Given the description of an element on the screen output the (x, y) to click on. 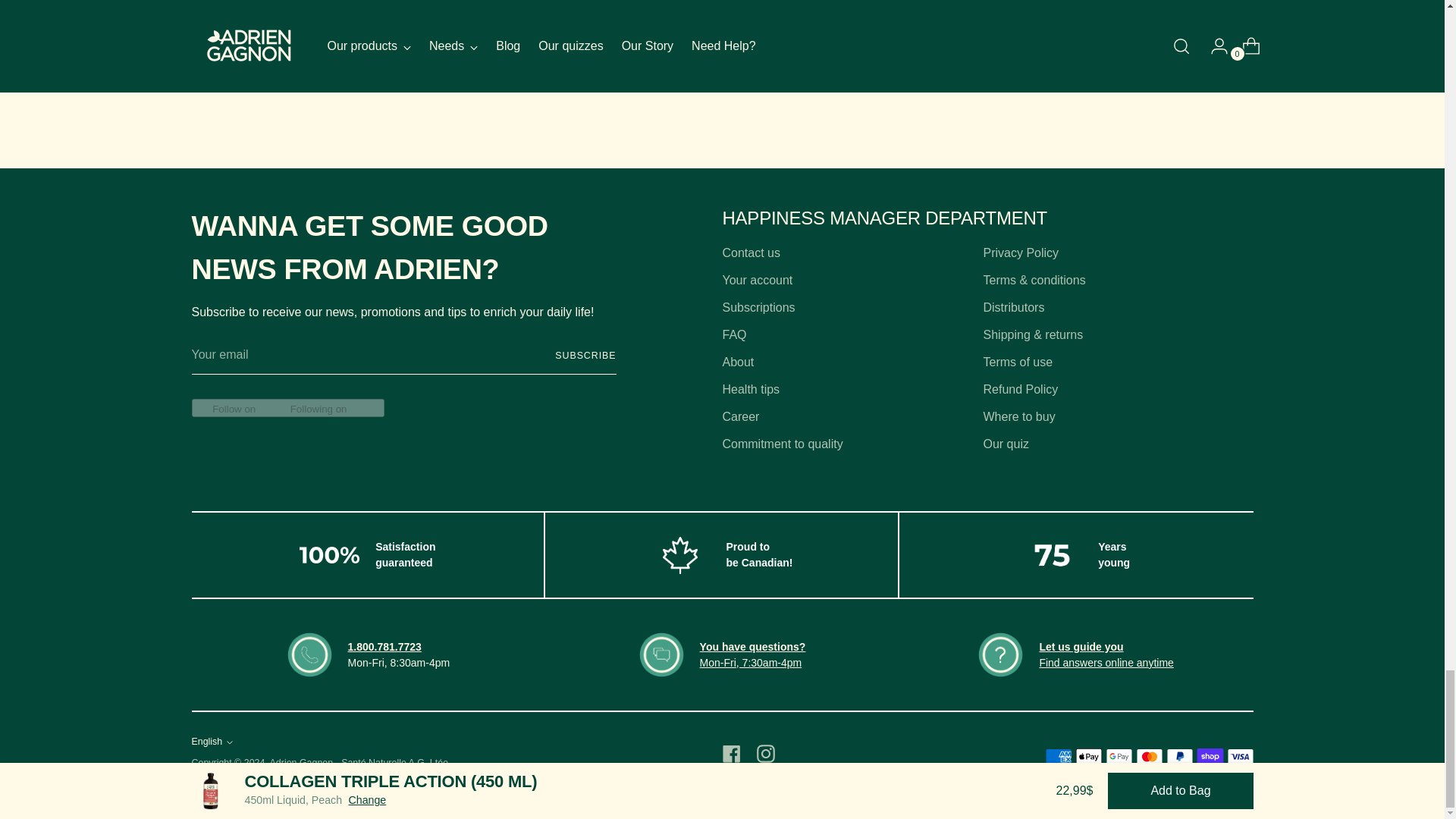
Contactez-nous--Contact us (751, 662)
Contactez-nous--Contact us (753, 646)
FAQ (1106, 662)
FAQ (1080, 646)
